Given the description of an element on the screen output the (x, y) to click on. 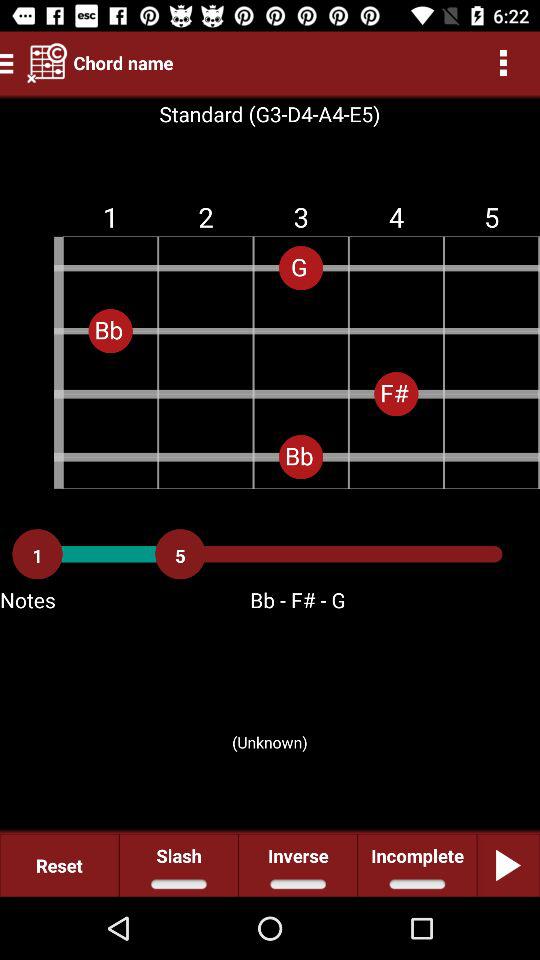
turn off icon to the left of inverse (178, 864)
